Given the description of an element on the screen output the (x, y) to click on. 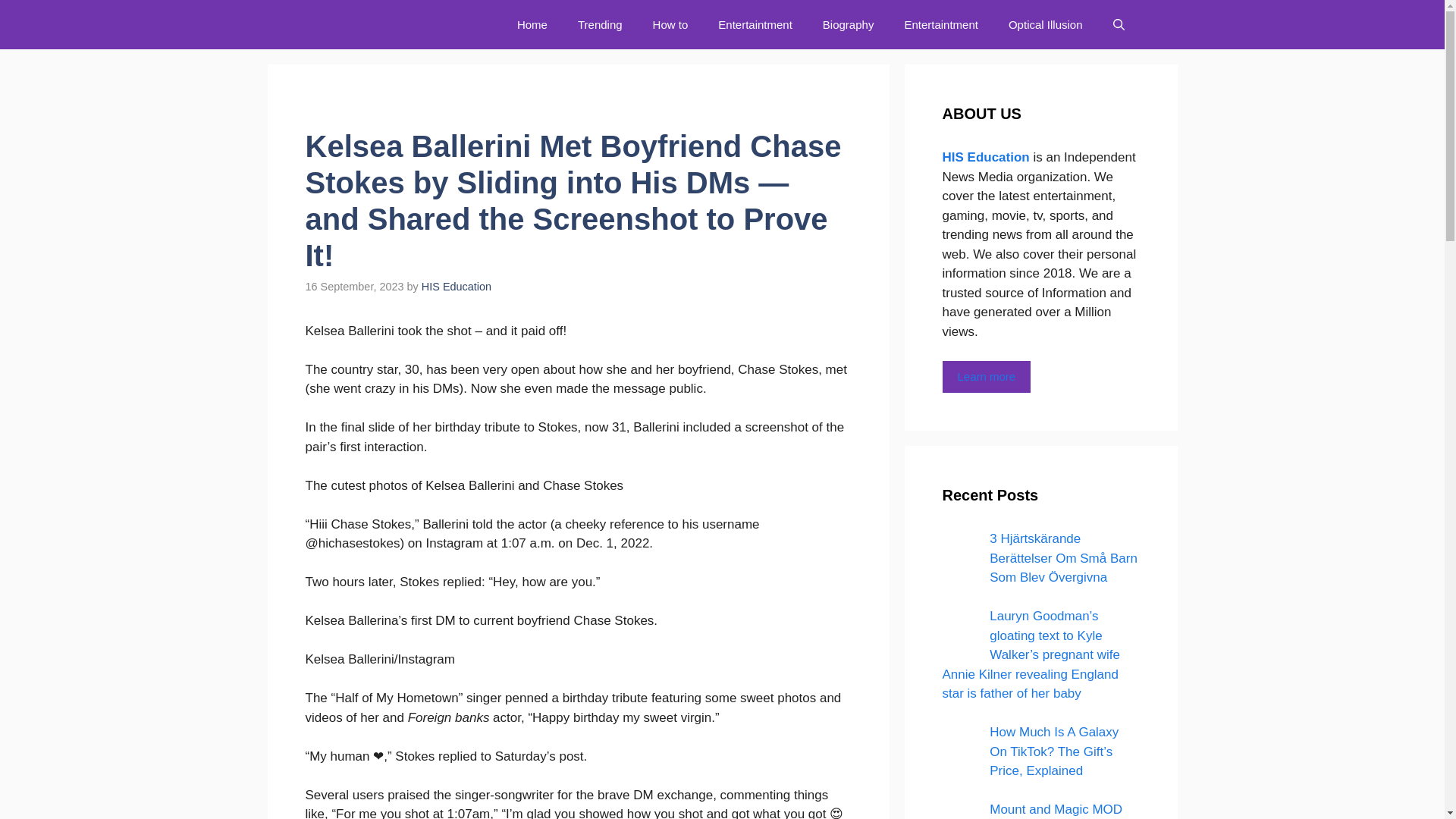
Biography (848, 24)
Learn more (986, 377)
HIS Education (457, 286)
HIS Education (987, 156)
Entertaintment (755, 24)
Entertaintment (940, 24)
Home (532, 24)
Trending (599, 24)
View all posts by HIS Education (457, 286)
Optical Illusion (1044, 24)
HIS Education (390, 24)
How to (670, 24)
